Given the description of an element on the screen output the (x, y) to click on. 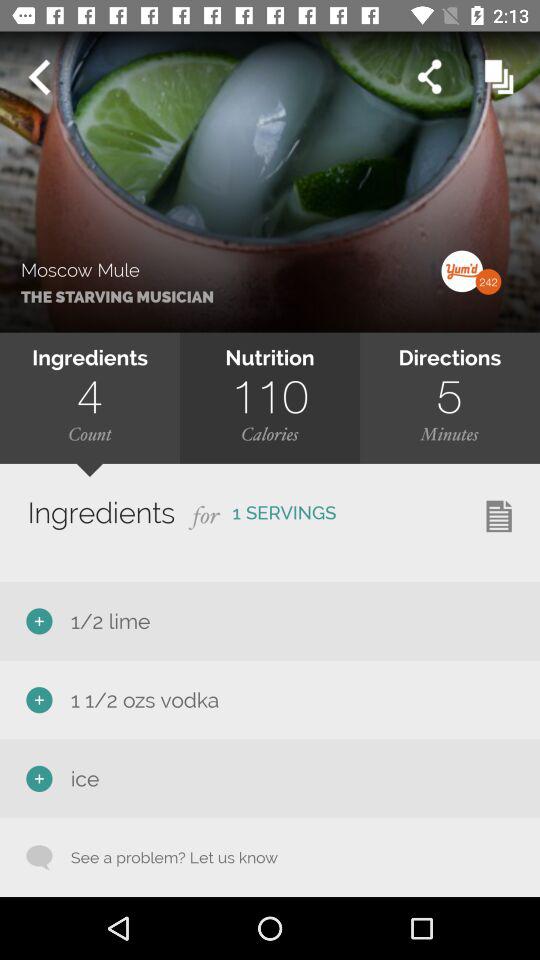
turn off the see a problem icon (164, 857)
